Given the description of an element on the screen output the (x, y) to click on. 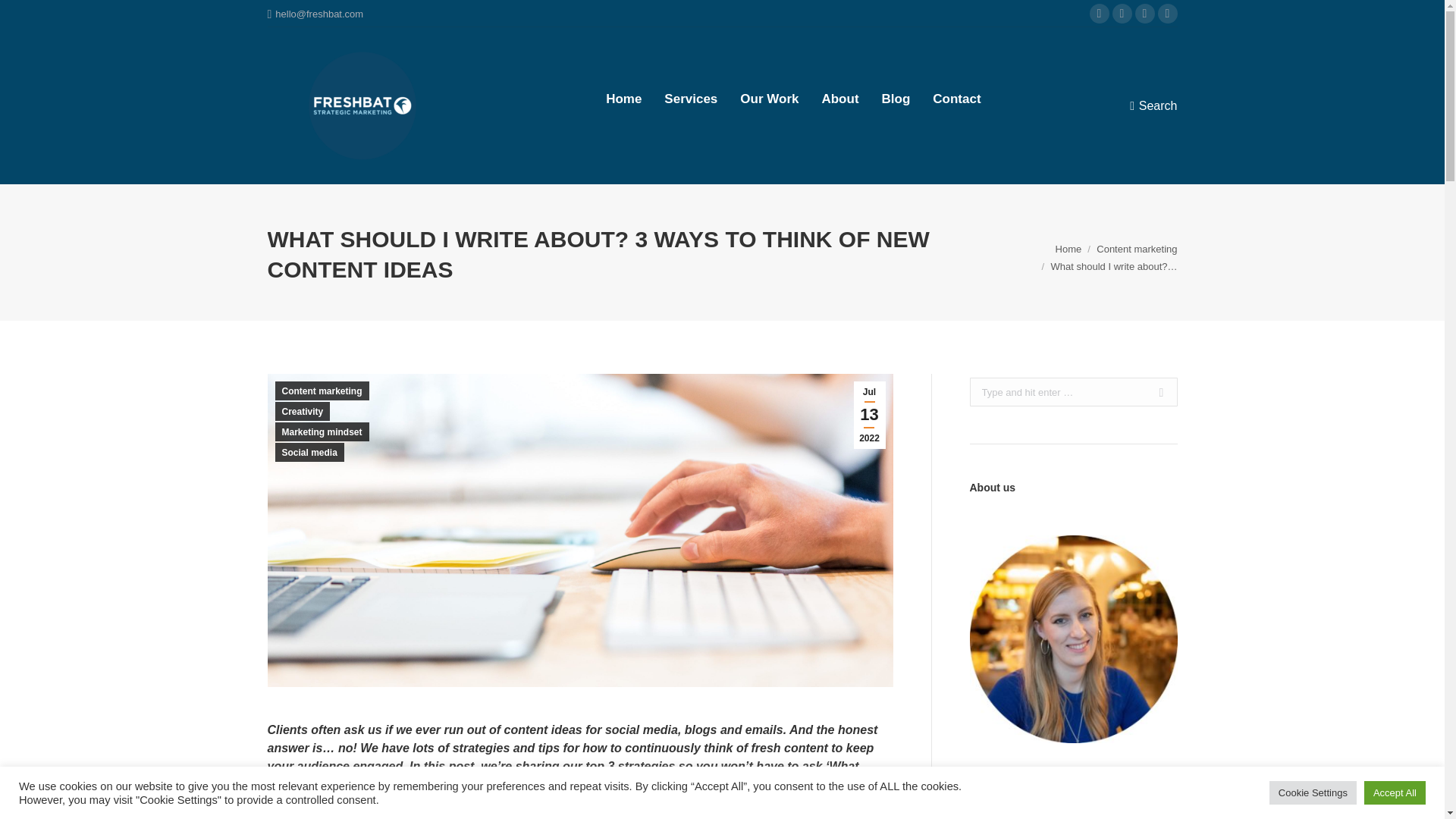
Facebook (1121, 13)
Our Work (769, 98)
Go! (22, 14)
Services (690, 98)
Go! (1155, 391)
Home (623, 98)
Contact (956, 98)
Instagram (1144, 13)
Go! (1155, 391)
About (839, 98)
Blog (895, 98)
Linkedin (1098, 13)
YouTube (1166, 13)
Search (1152, 105)
